Given the description of an element on the screen output the (x, y) to click on. 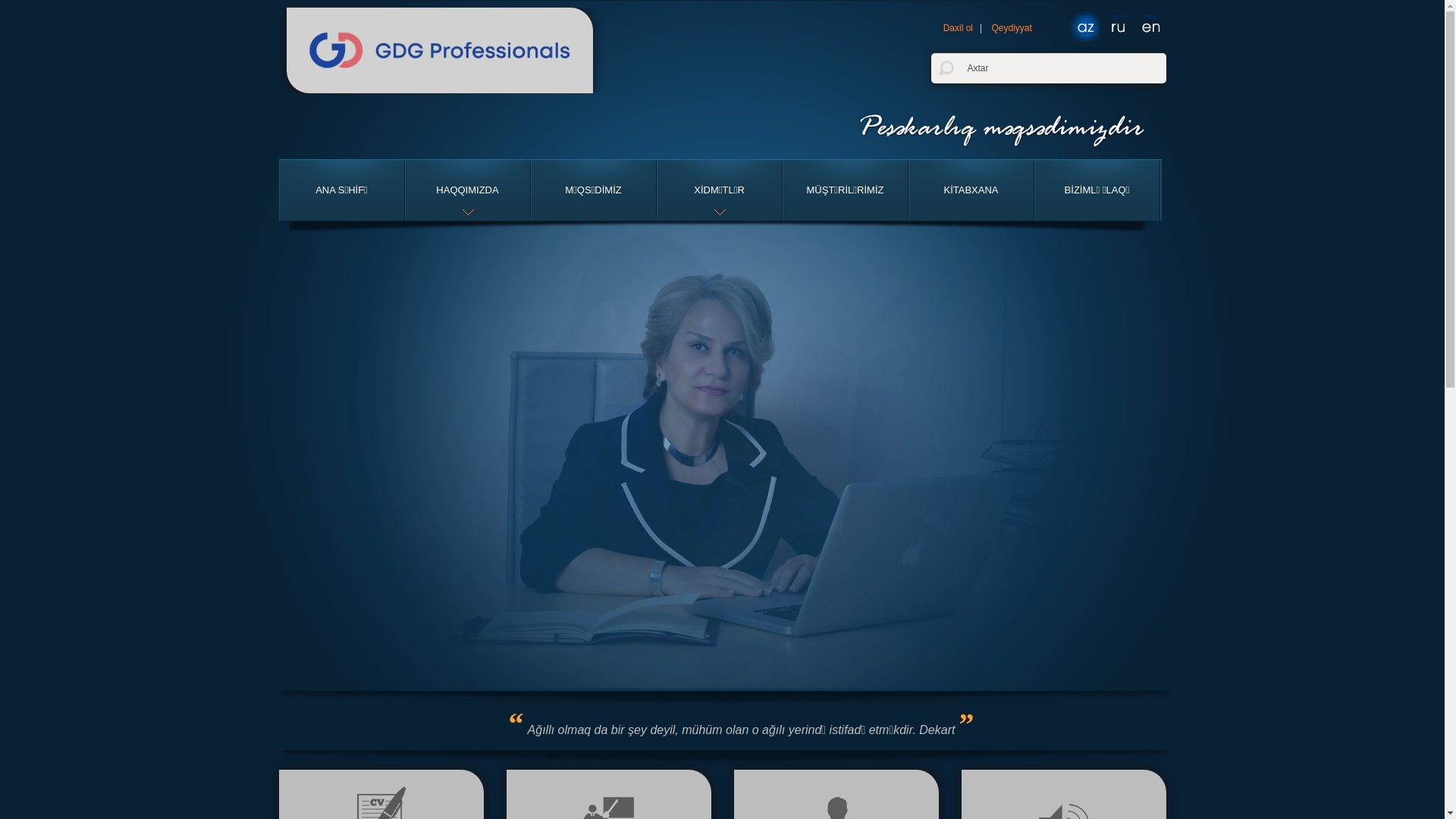
Daxil ol Element type: text (957, 27)
HAQQIMIZDA Element type: text (466, 190)
Qeydiyyat Element type: text (1011, 27)
